Given the description of an element on the screen output the (x, y) to click on. 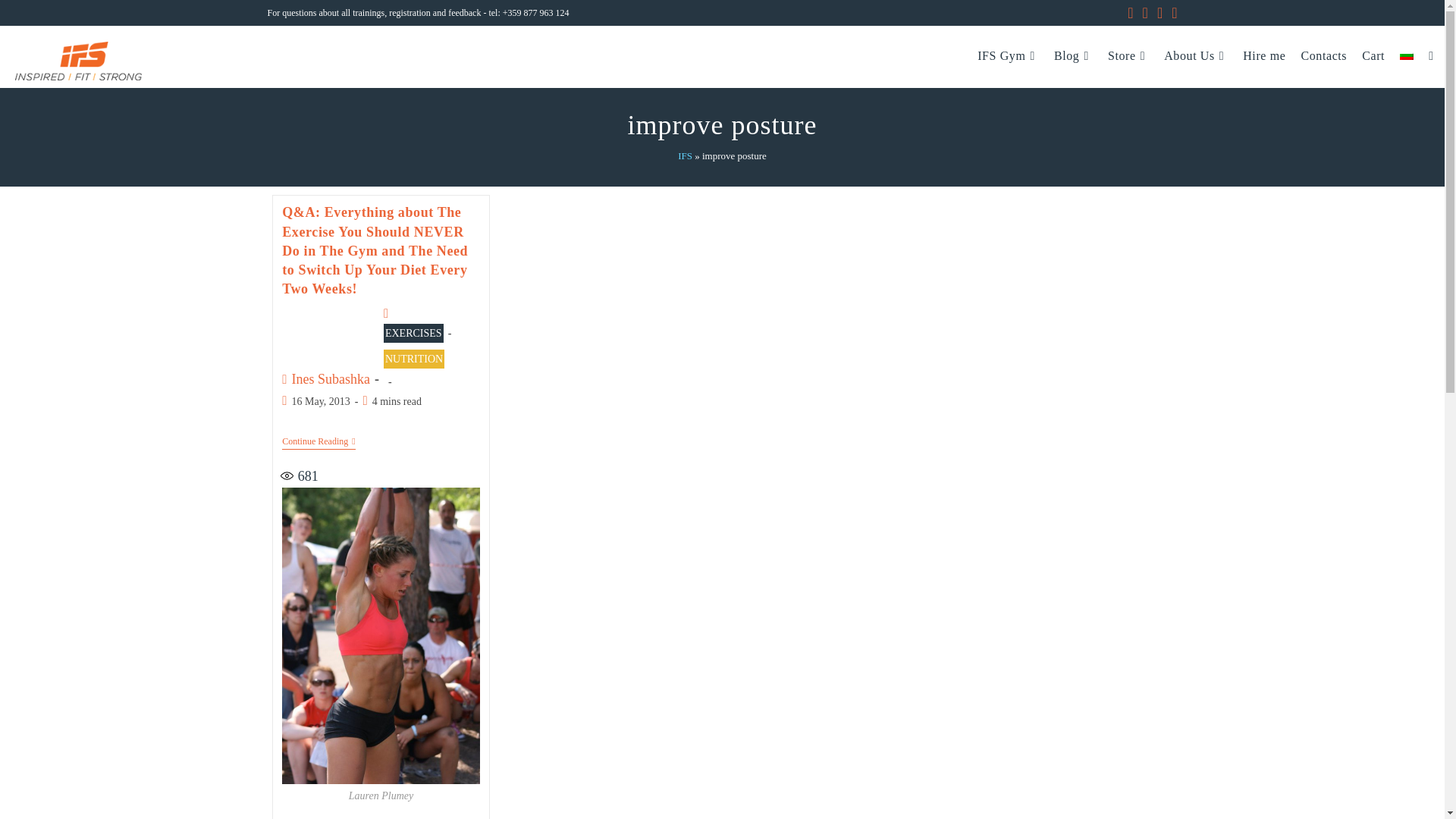
Ines Subashka (330, 378)
Hire me (1263, 55)
About Us (1195, 55)
Store (1128, 55)
NUTRITION (414, 358)
EXERCISES (414, 333)
Contacts (1323, 55)
IFS Gym (1007, 55)
IFS (685, 155)
Cart (1372, 55)
